Given the description of an element on the screen output the (x, y) to click on. 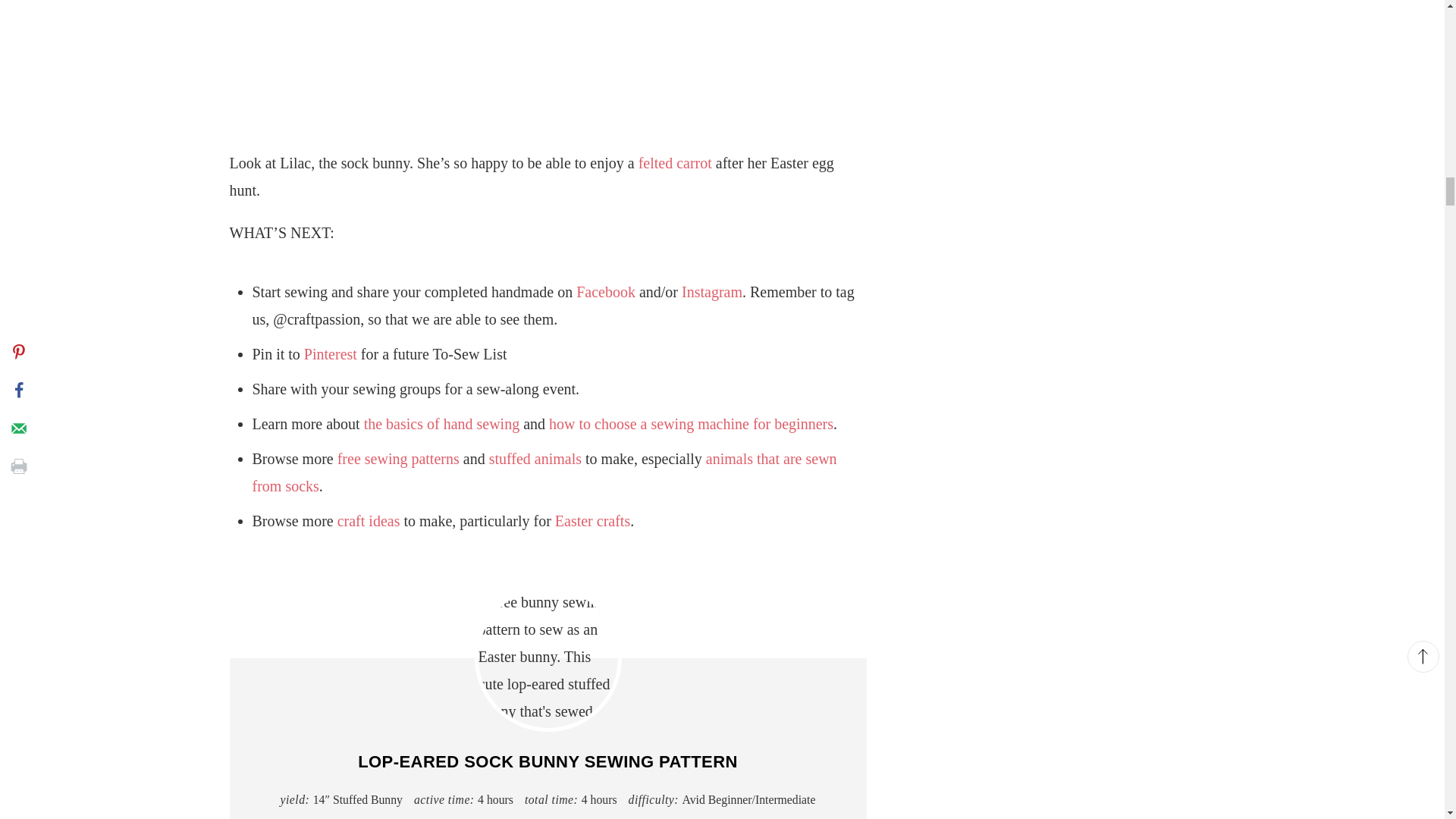
felted carrot (675, 162)
Facebook (605, 291)
Instagram (711, 291)
long ear sock bunny 1200 (547, 658)
Pinterest (330, 353)
bunny carrot 1200 (547, 59)
